Given the description of an element on the screen output the (x, y) to click on. 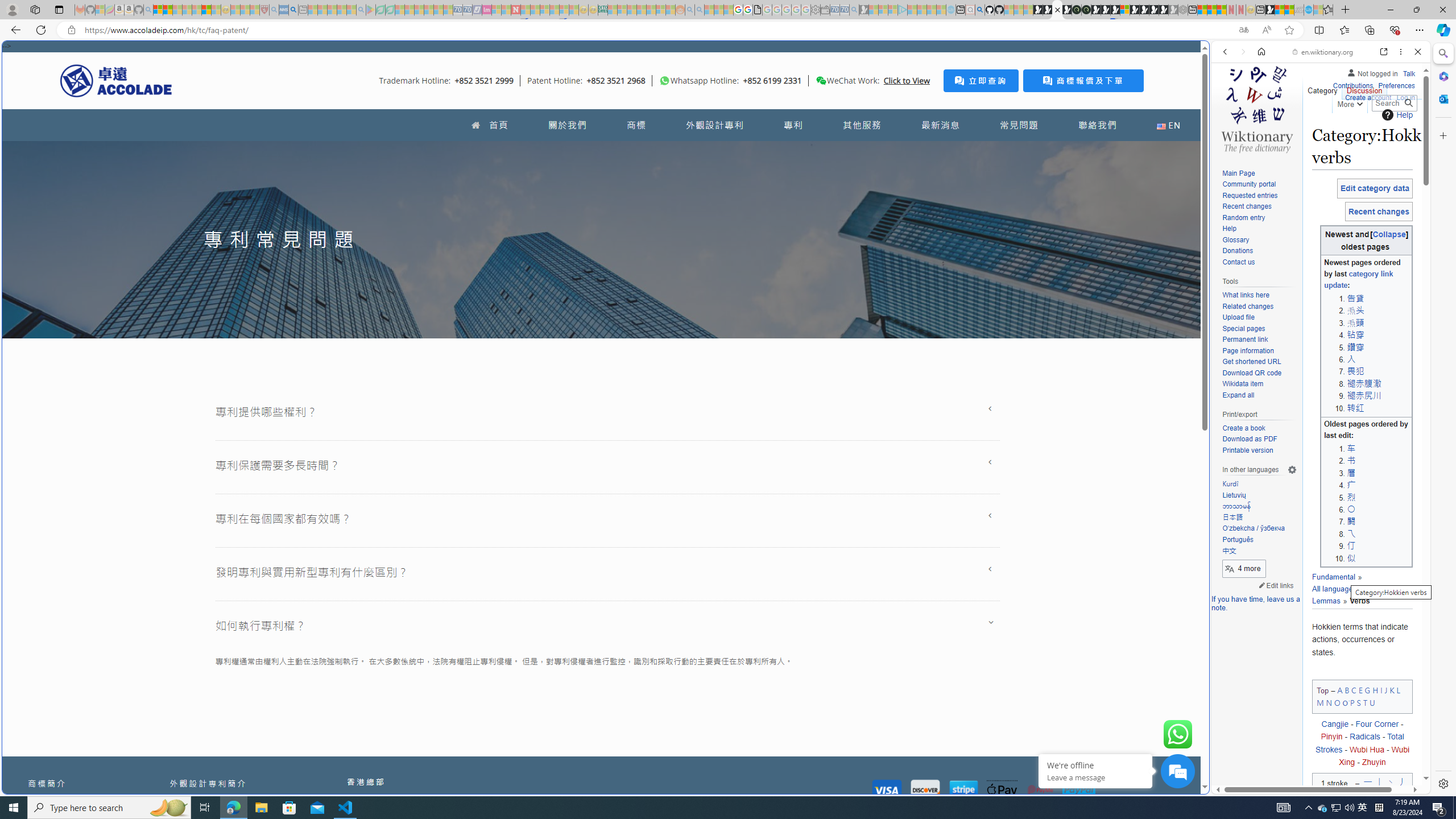
Class: desktop (821, 80)
Community portal (1259, 184)
Main Page (1259, 173)
